Given the description of an element on the screen output the (x, y) to click on. 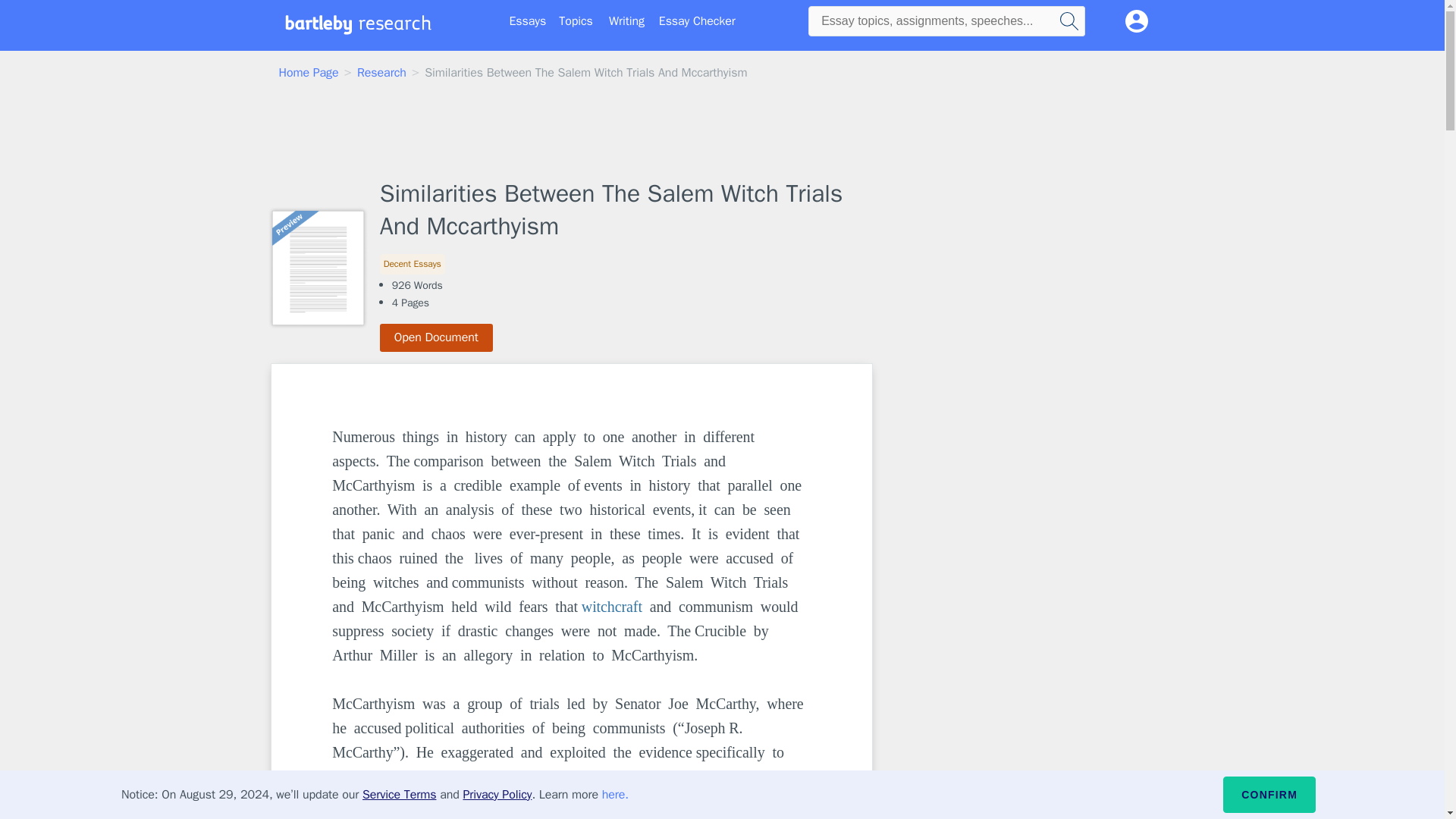
witchcraft (611, 606)
Essays (528, 20)
Open Document (436, 337)
Home Page (309, 72)
Writing (626, 20)
Essay Checker (697, 20)
Topics (575, 20)
Research (381, 72)
